Given the description of an element on the screen output the (x, y) to click on. 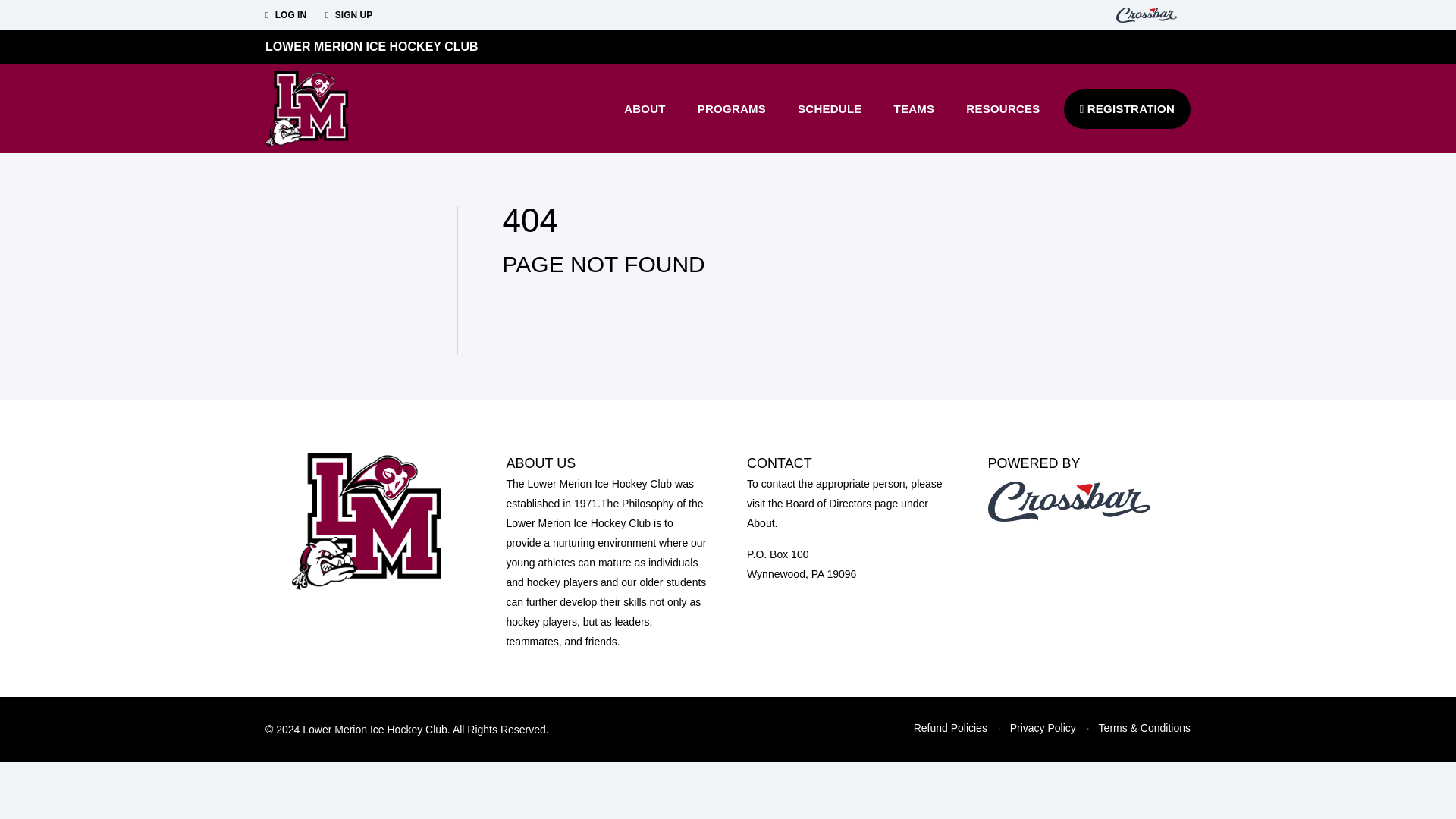
PROGRAMS (731, 108)
LOWER MERION ICE HOCKEY CLUB (371, 46)
TEAMS (913, 108)
LOG IN (284, 15)
SIGN UP (348, 15)
SCHEDULE (829, 108)
ABOUT (644, 108)
